Given the description of an element on the screen output the (x, y) to click on. 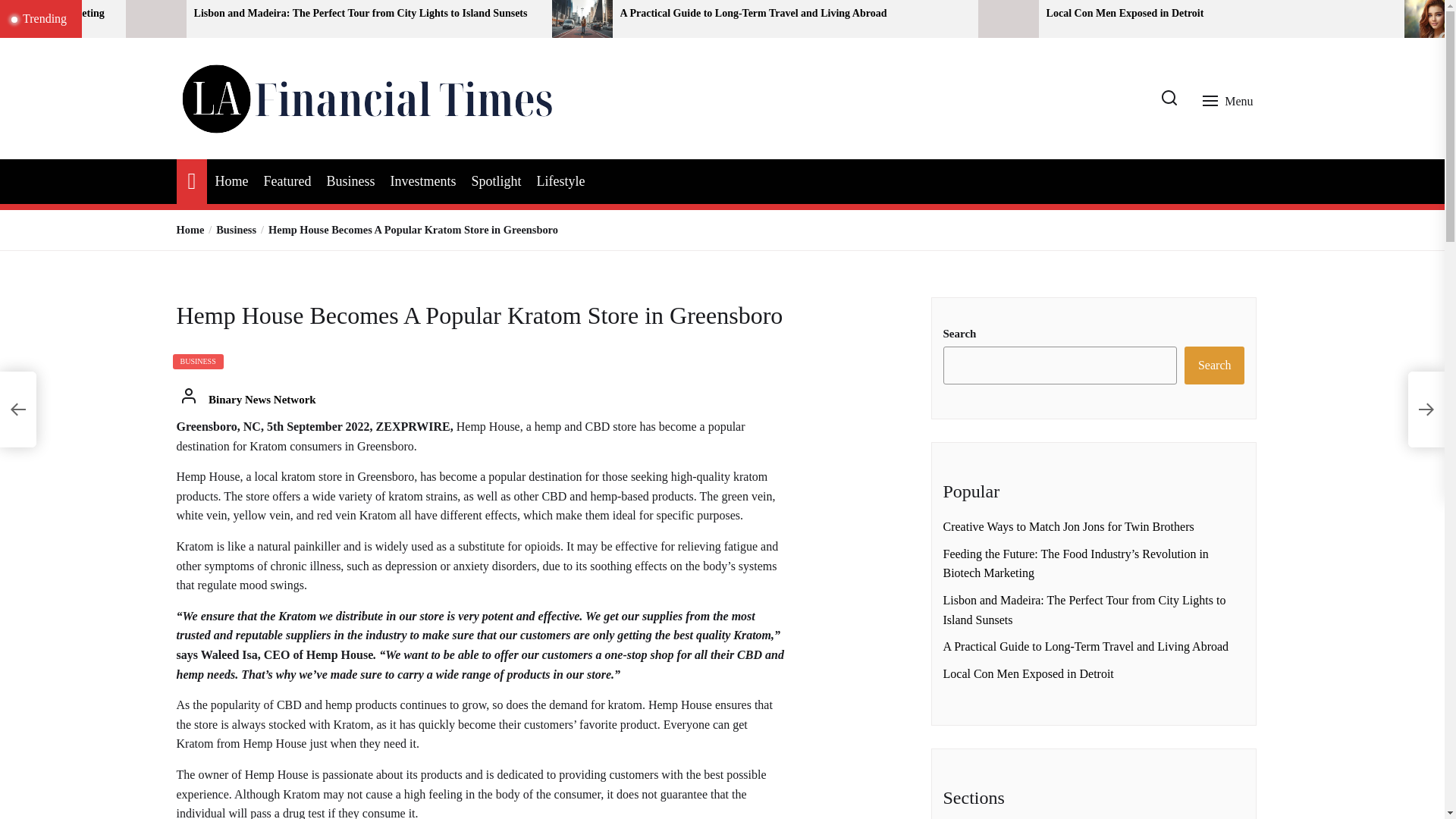
A Practical Guide to Long-Term Travel and Living Abroad (793, 13)
Local Con Men Exposed in Detroit (1219, 13)
